Given the description of an element on the screen output the (x, y) to click on. 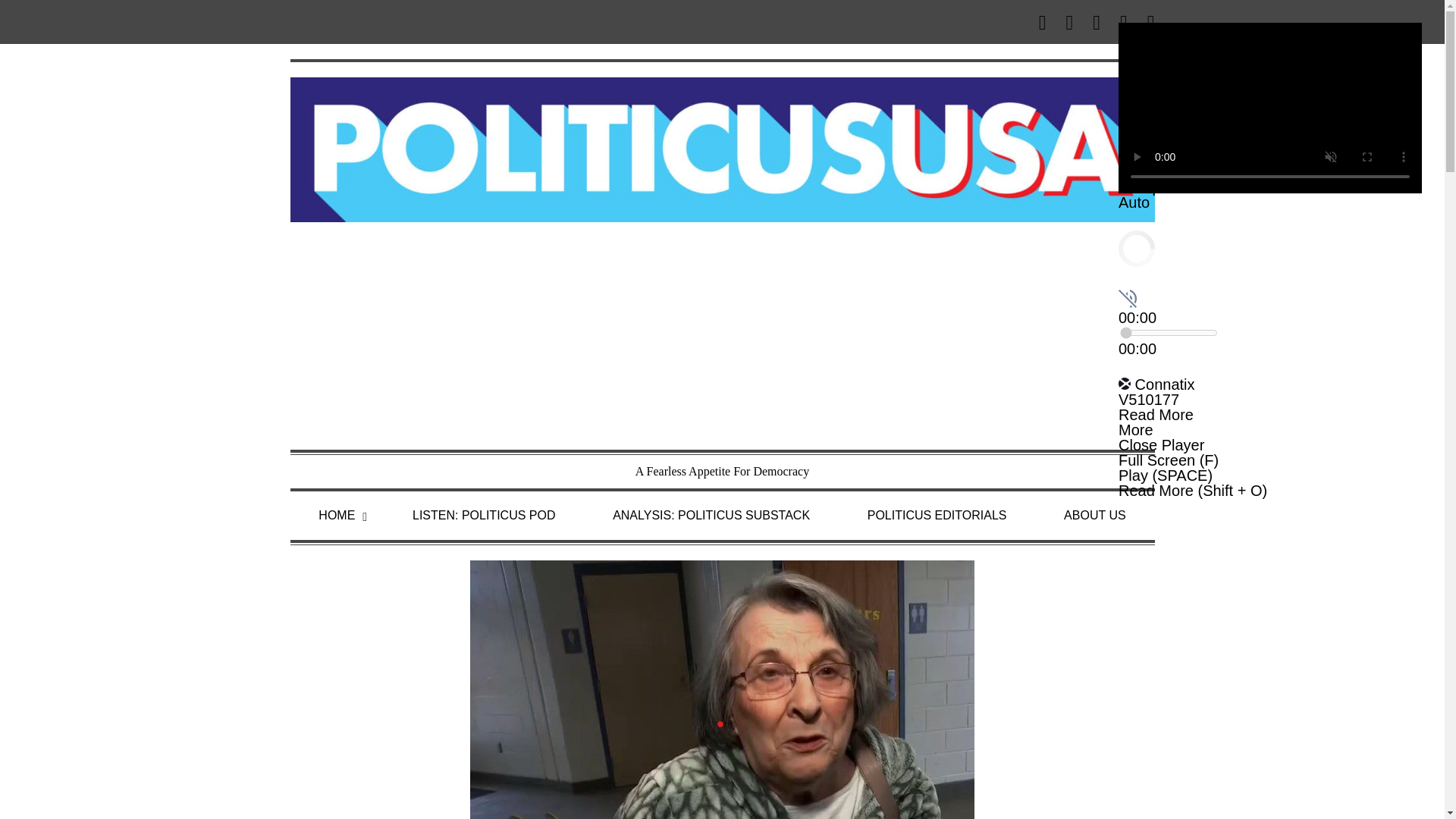
ABOUT US (1094, 515)
LISTEN: POLITICUS POD (483, 515)
POLITICUS EDITORIALS (936, 515)
ANALYSIS: POLITICUS SUBSTACK (710, 515)
HOME (335, 515)
Go back to home (721, 148)
